Given the description of an element on the screen output the (x, y) to click on. 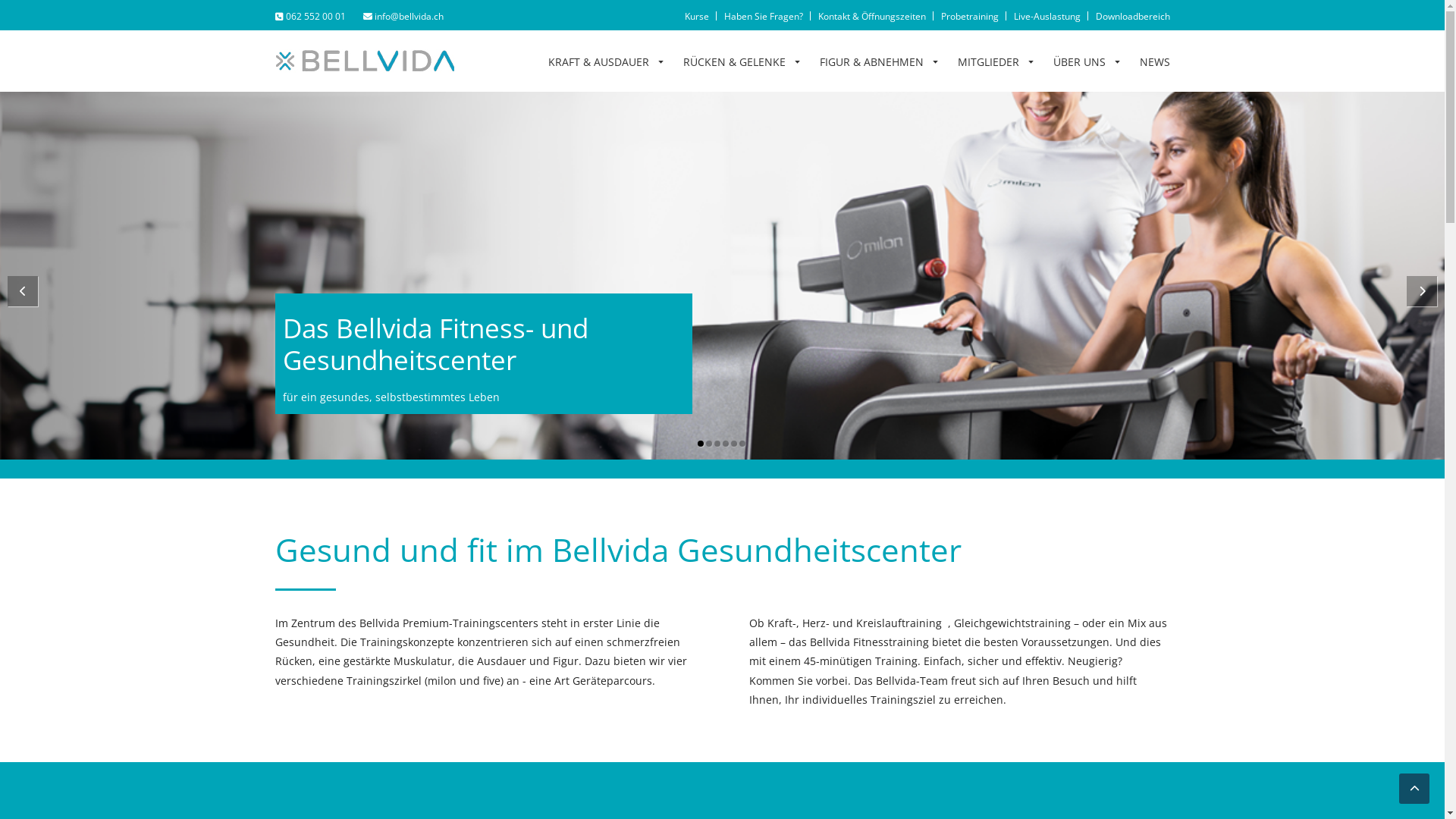
Kurse Element type: text (696, 15)
Haben Sie Fragen? Element type: text (762, 15)
Probetraining Element type: text (968, 15)
info@bellvida.ch Element type: text (402, 15)
062 552 00 01 Element type: text (310, 15)
Downloadbereich Element type: text (1132, 15)
Live-Auslastung Element type: text (1046, 15)
FIGUR & ABNEHMEN Element type: text (880, 61)
MITGLIEDER Element type: text (997, 61)
KRAFT & AUSDAUER Element type: text (607, 61)
NEWS Element type: text (1154, 61)
